Given the description of an element on the screen output the (x, y) to click on. 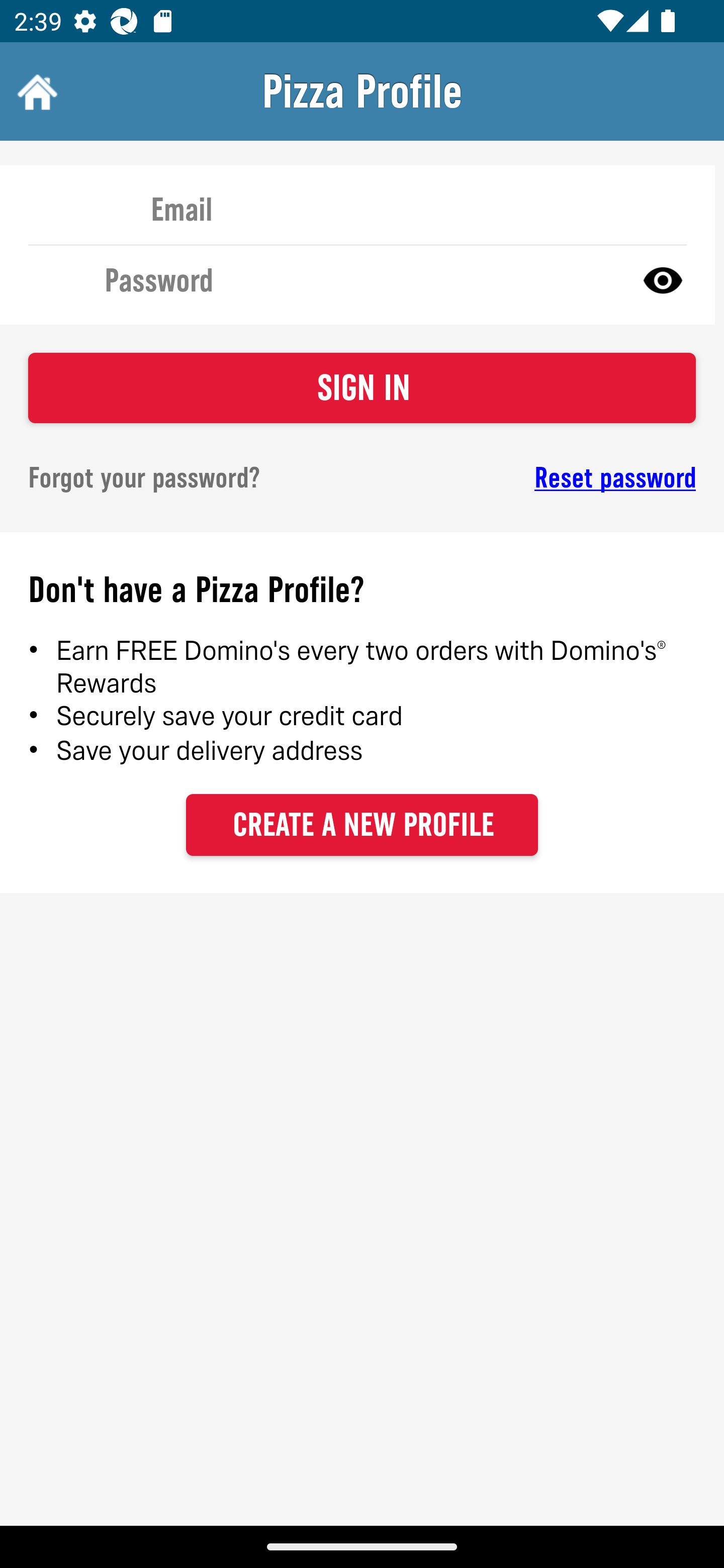
Home (35, 91)
Show Password (663, 279)
SIGN IN (361, 387)
Reset password (545, 477)
CREATE A NEW PROFILE (361, 824)
